Given the description of an element on the screen output the (x, y) to click on. 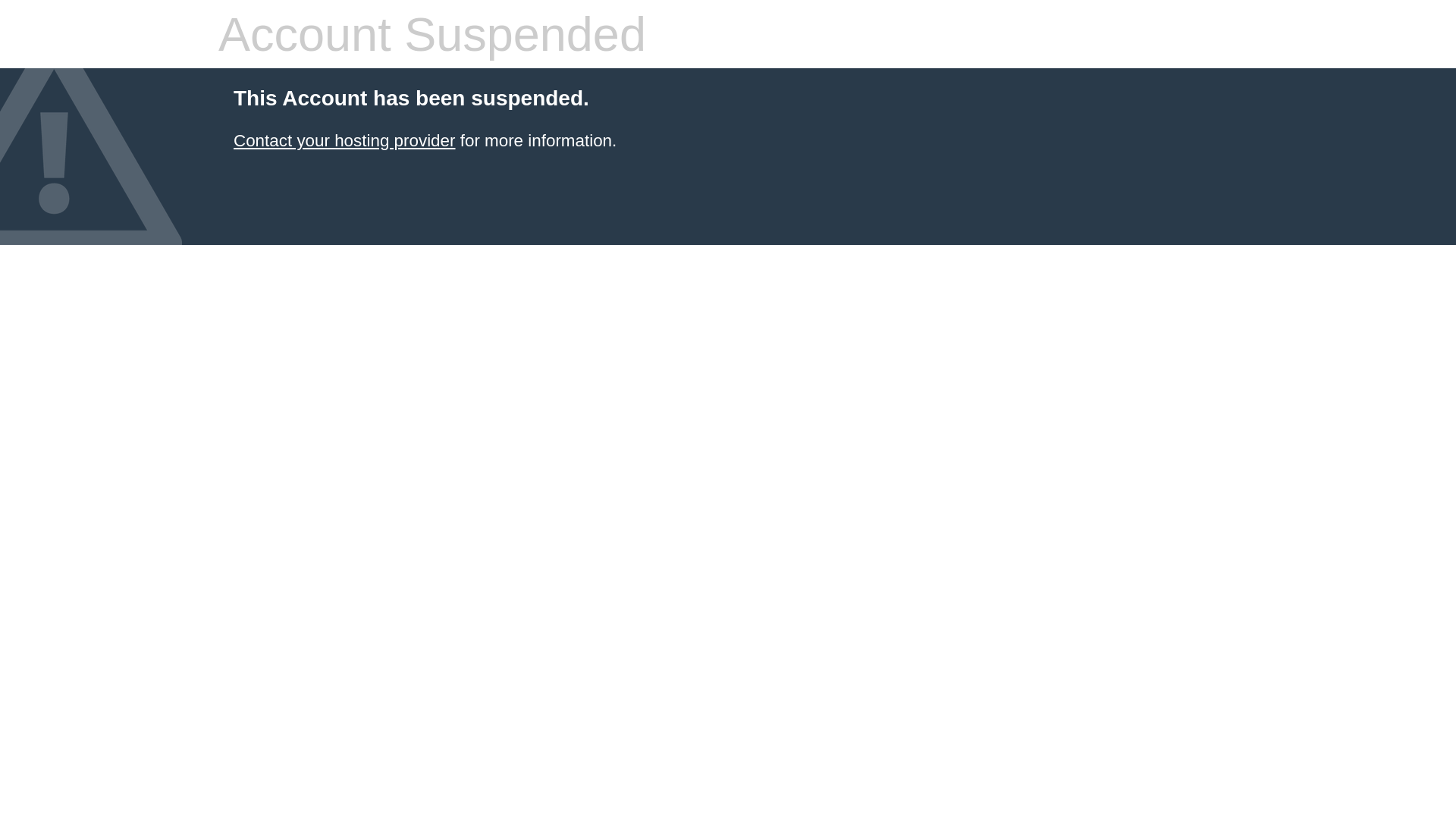
Contact your hosting provider Element type: text (344, 140)
